Given the description of an element on the screen output the (x, y) to click on. 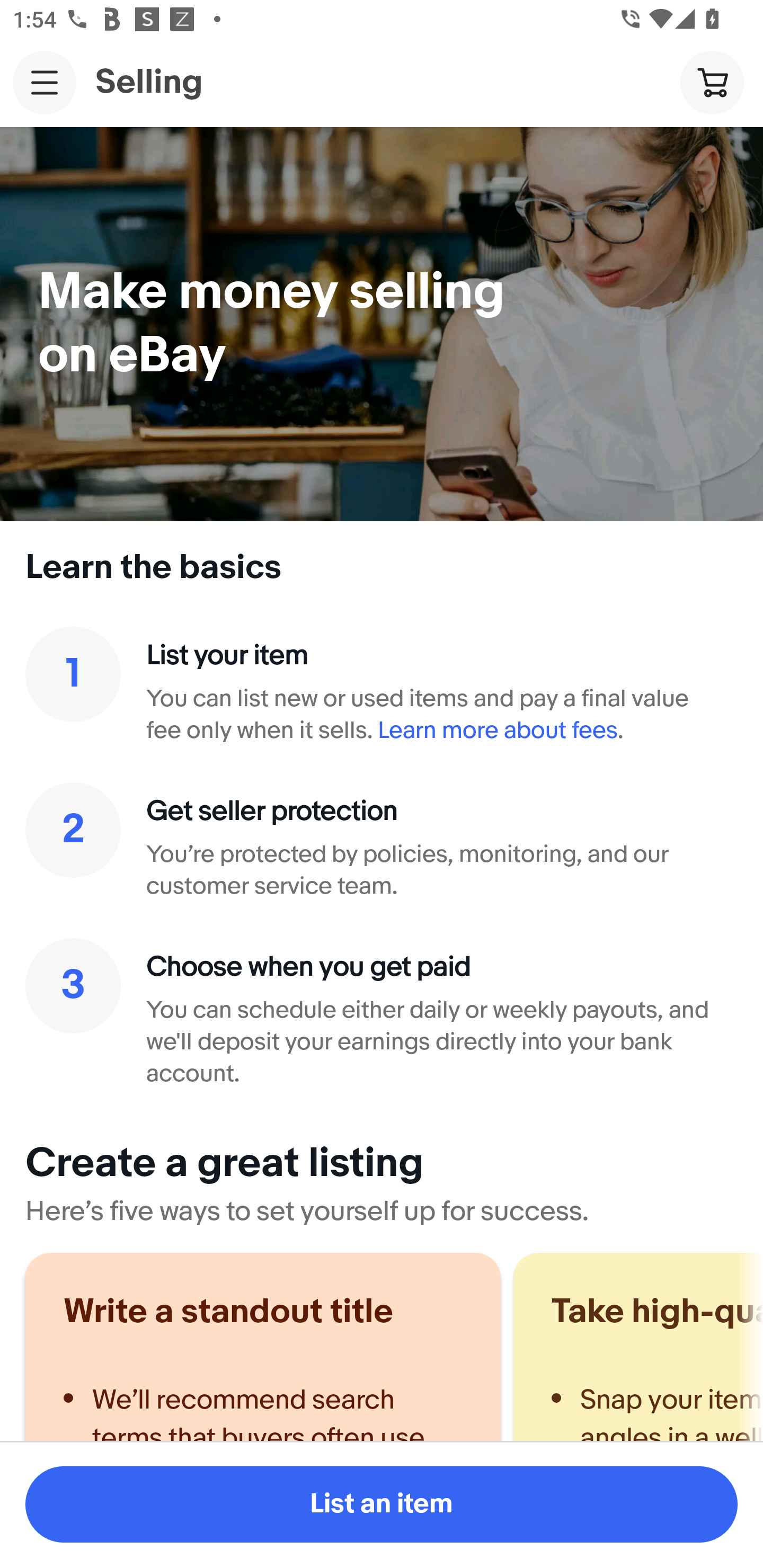
Main navigation, open (44, 82)
Cart button shopping cart (711, 81)
List an item (381, 1504)
